Given the description of an element on the screen output the (x, y) to click on. 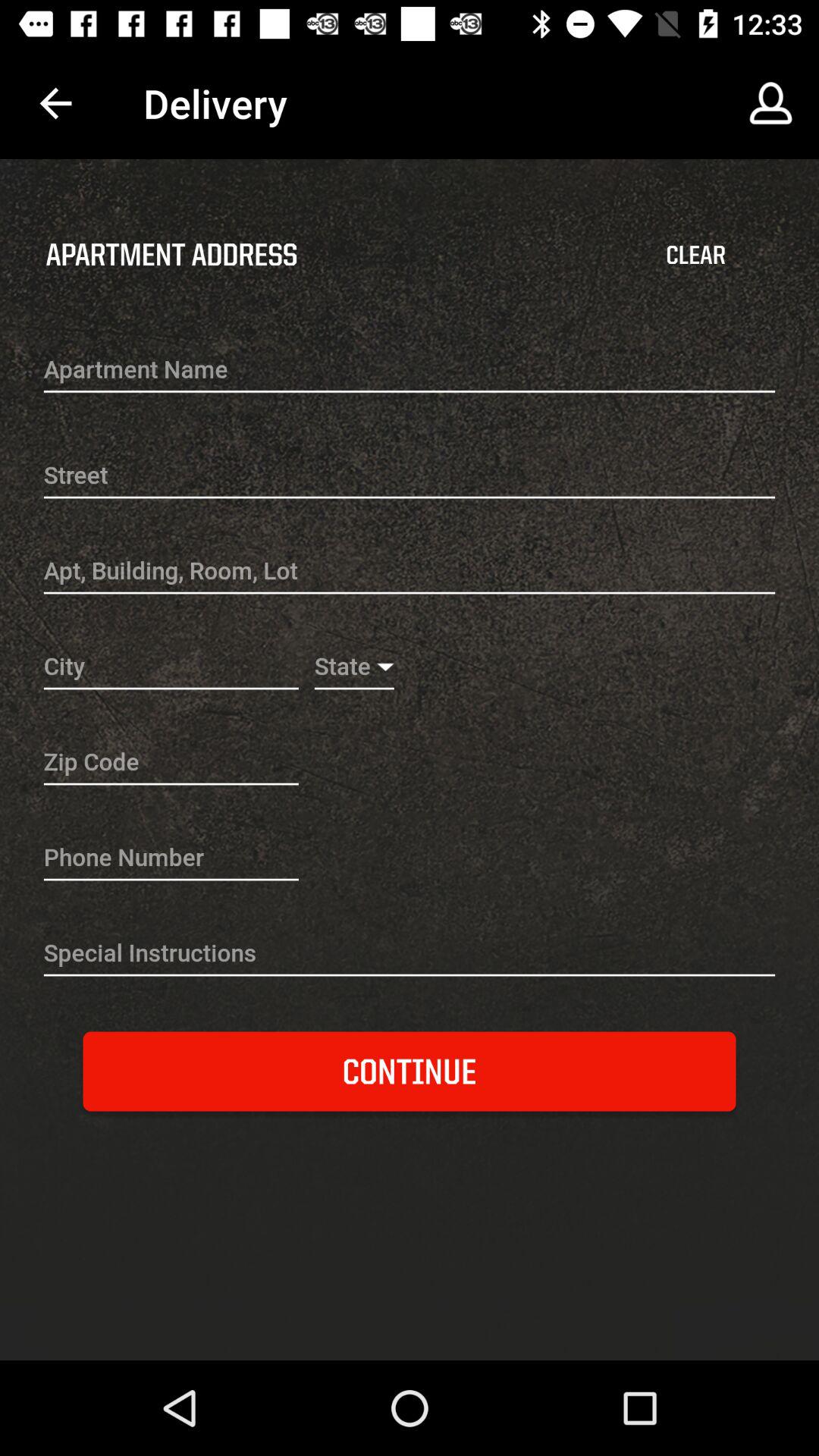
press item to the right of apartment address item (695, 254)
